Given the description of an element on the screen output the (x, y) to click on. 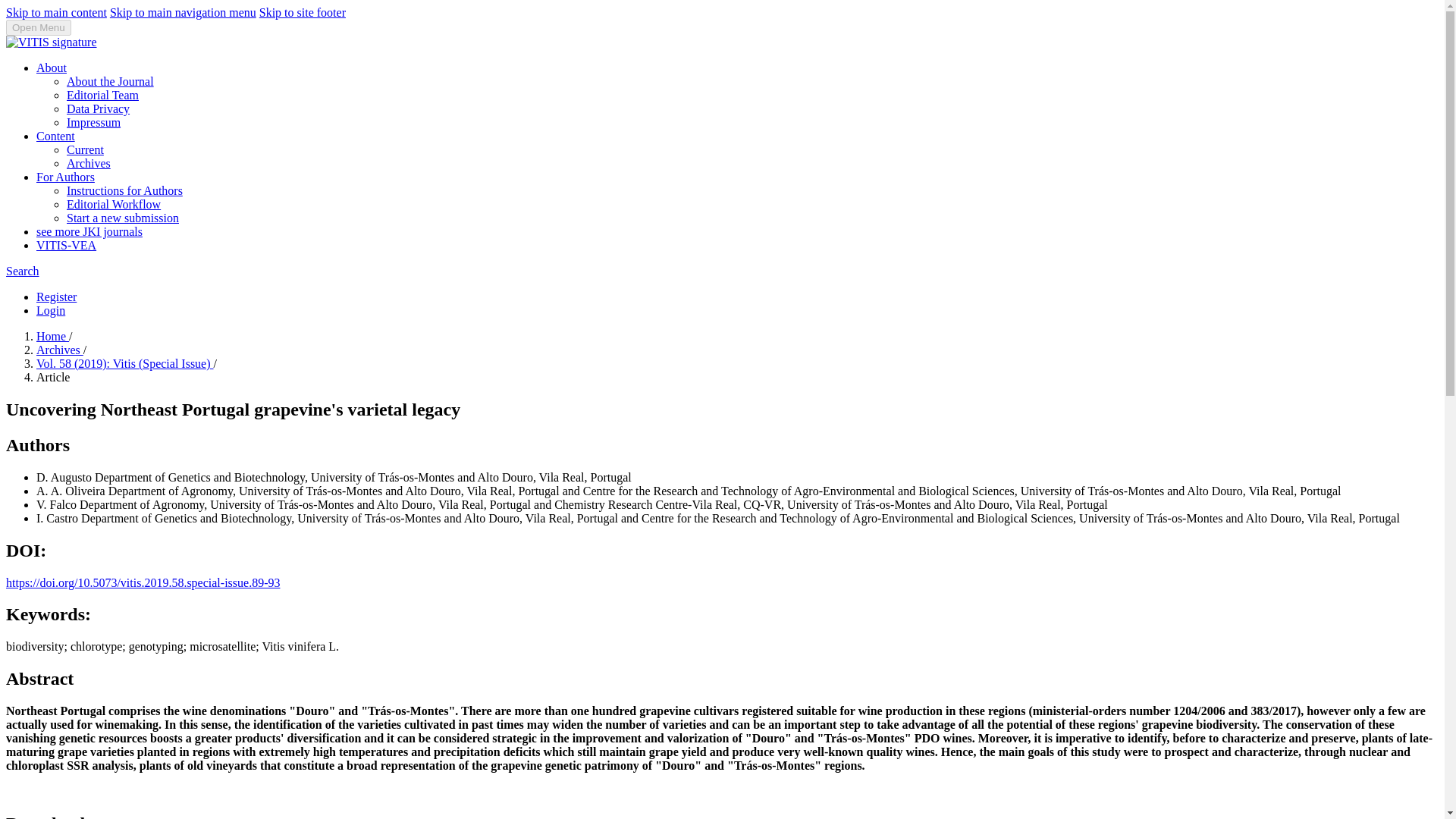
Content (55, 135)
Start a new submission (122, 217)
see more JKI journals (89, 231)
Archives (59, 349)
Register (56, 296)
Current (84, 149)
VITIS-VEA (66, 245)
Archives (88, 163)
Impressum (93, 122)
Data Privacy (97, 108)
Editorial Workflow (113, 204)
Login (50, 309)
About (51, 67)
Skip to main content (55, 11)
Open Menu (38, 27)
